Given the description of an element on the screen output the (x, y) to click on. 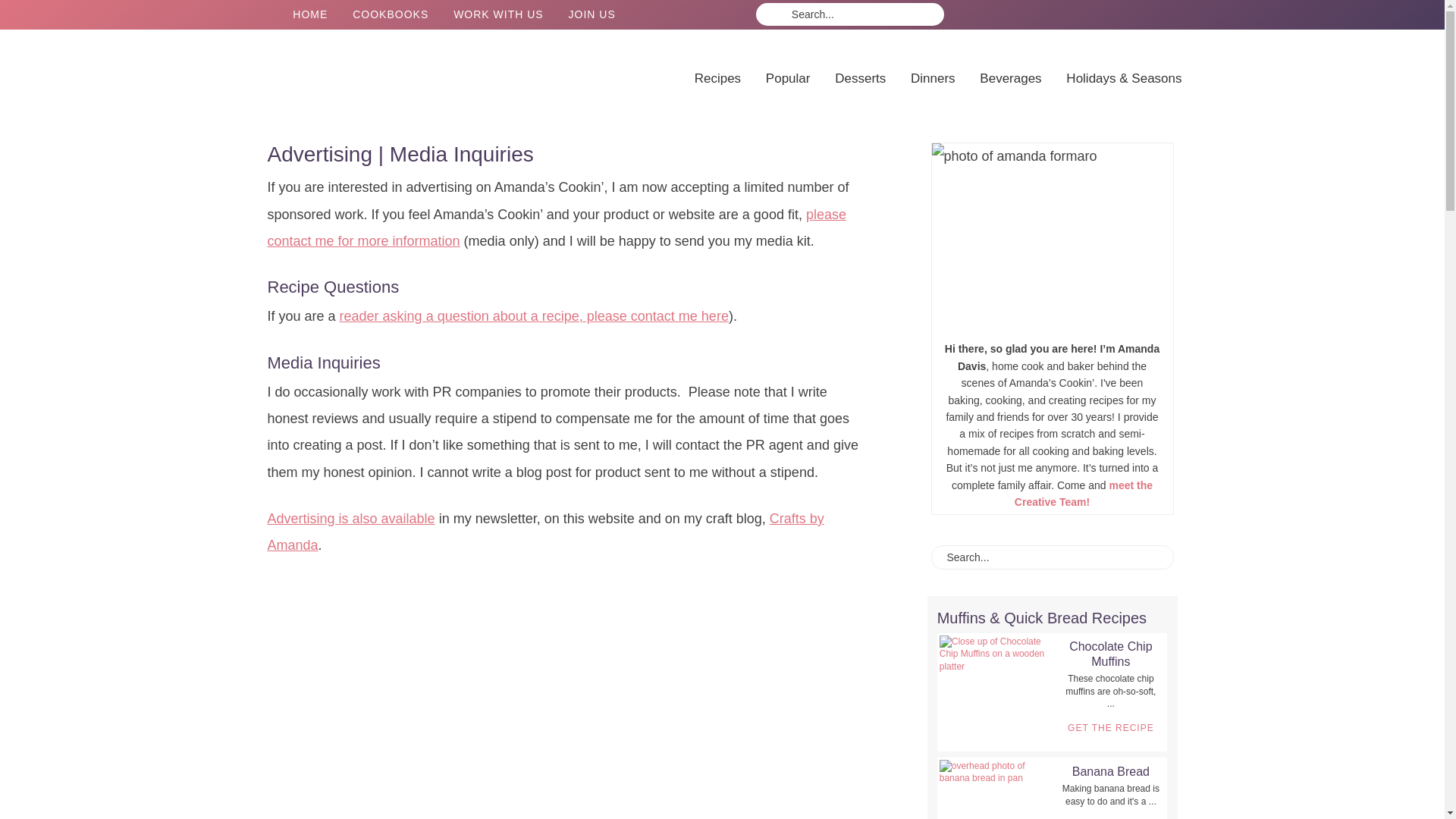
HOME (309, 14)
Chocolate Chip Muffins (1109, 653)
Chocolate Chip Muffins (995, 692)
Banana Bread (1110, 771)
Banana Bread (995, 789)
COOKBOOKS (390, 14)
WORK WITH US (498, 14)
JOIN US (591, 14)
